Given the description of an element on the screen output the (x, y) to click on. 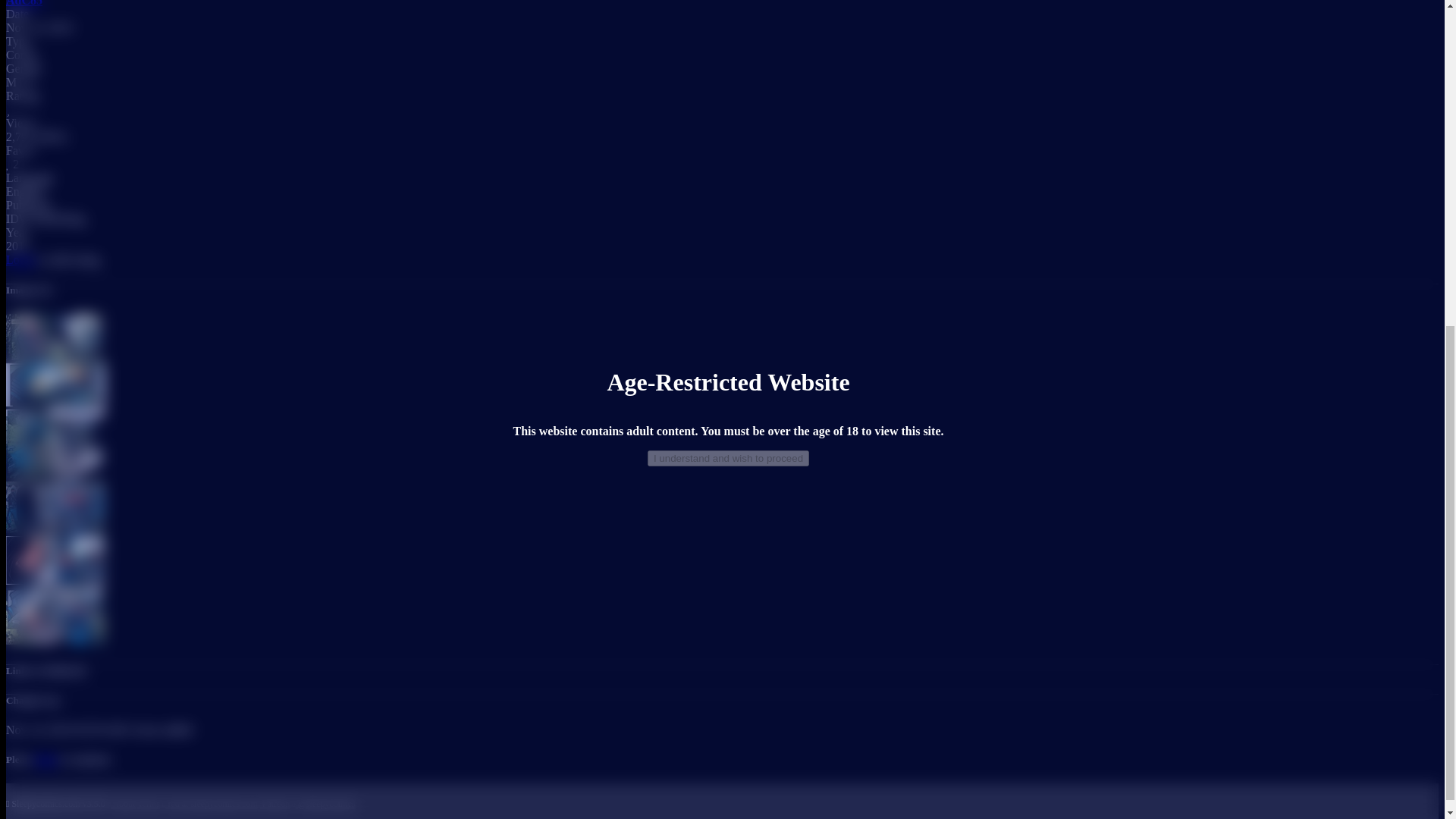
About Sleepycomics.com (121, 803)
login (45, 758)
Terms of service (148, 803)
red at sleepycomics.com (209, 803)
Follow me on Twitter! (323, 803)
AdC85 (23, 3)
About (121, 803)
Sleepycomics.com was founded on June 20, 2006. (54, 803)
Login (19, 259)
Support me on Patreon (274, 803)
Patreon (274, 803)
Terms (148, 803)
